Given the description of an element on the screen output the (x, y) to click on. 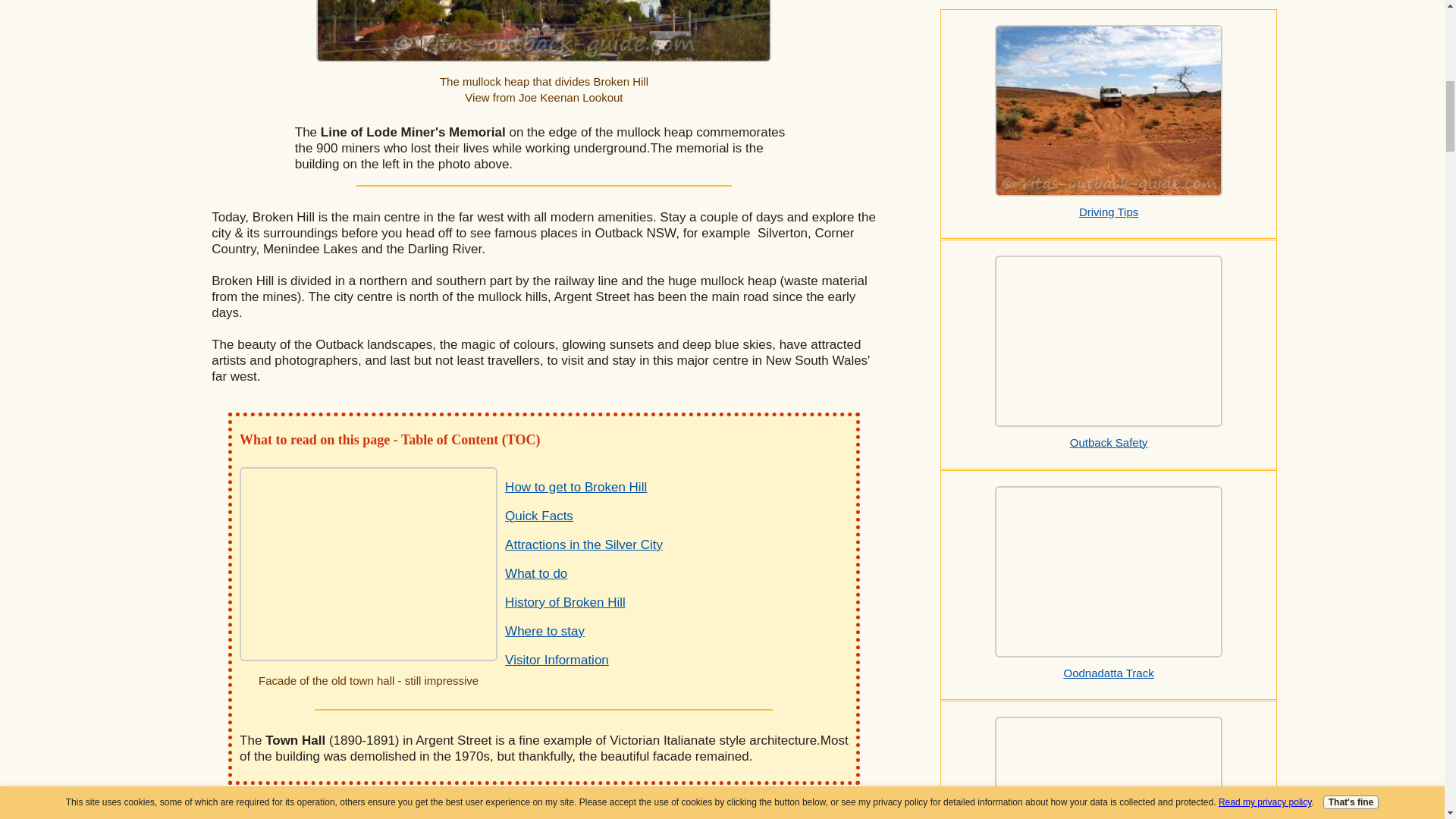
History of Broken Hill (565, 602)
Attractions in the Silver City (583, 544)
Only the facade remains of the once impressive town hall (368, 563)
What to do (536, 573)
Where to stay (545, 631)
Quick Facts (539, 515)
How to get to Broken Hill (575, 486)
